Given the description of an element on the screen output the (x, y) to click on. 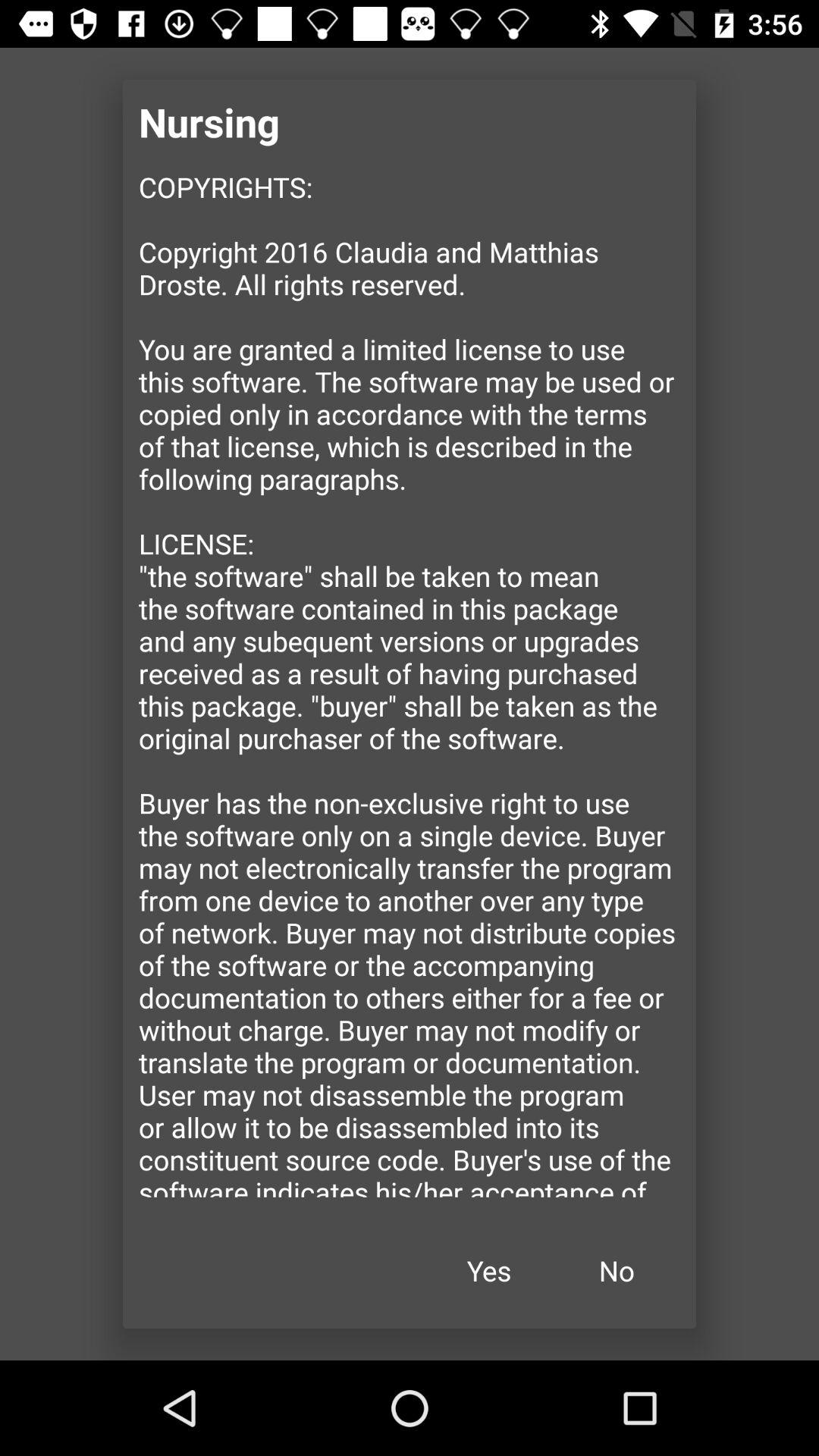
choose icon below the copyrights copyright 2016 item (488, 1270)
